Given the description of an element on the screen output the (x, y) to click on. 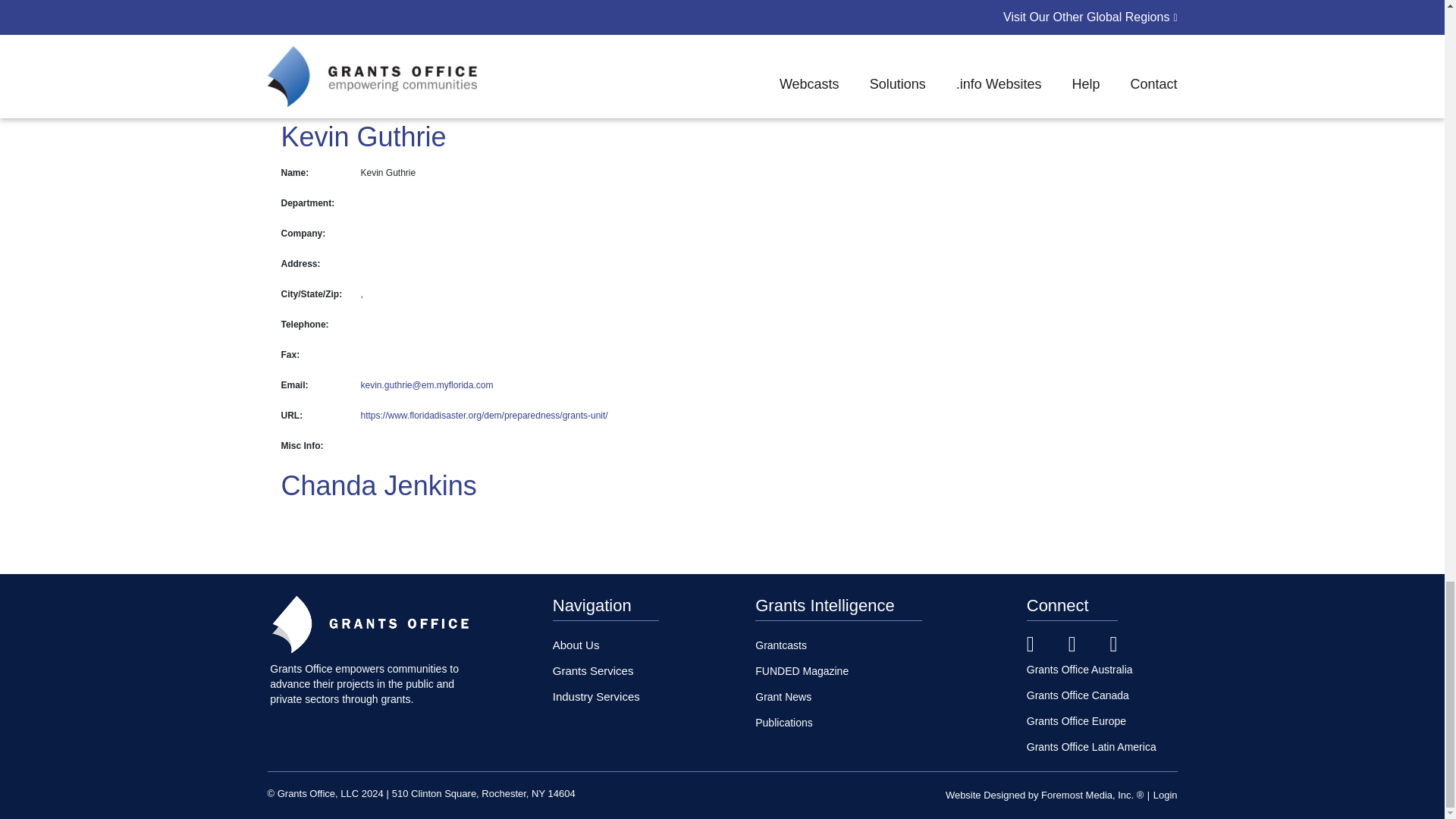
Grants Services (593, 670)
About Us (576, 645)
Login (1165, 794)
